Given the description of an element on the screen output the (x, y) to click on. 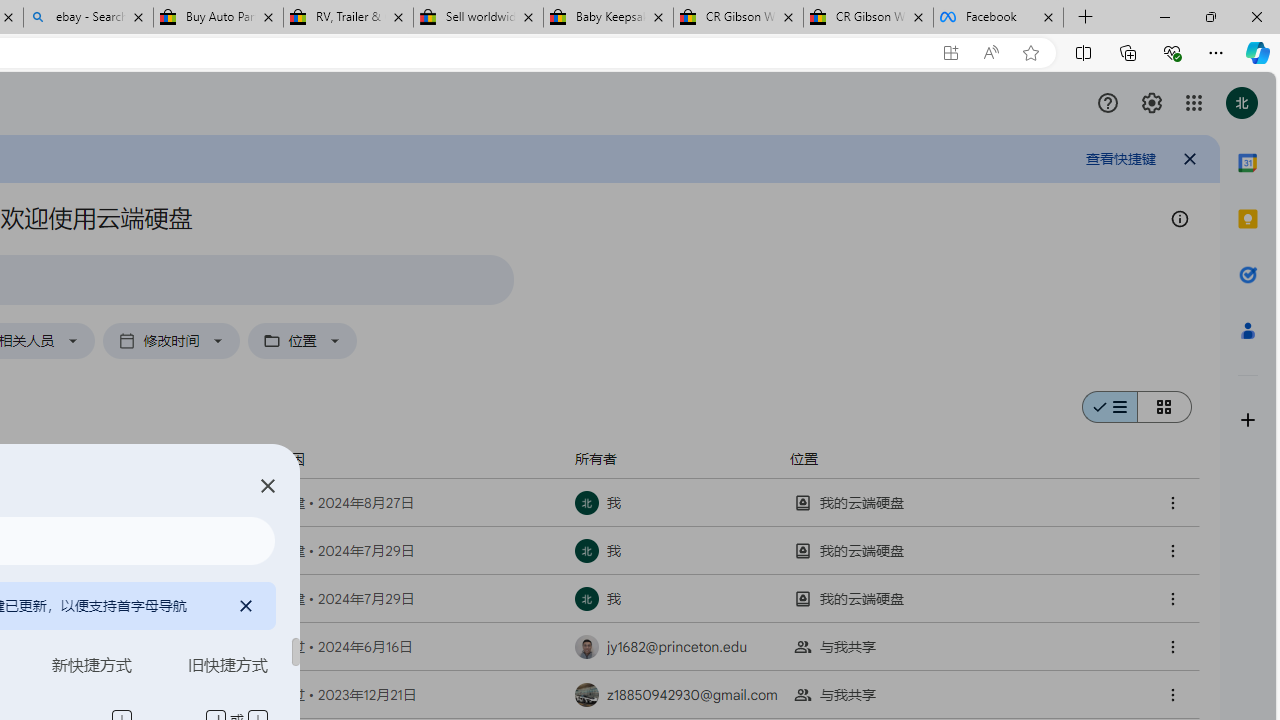
RV, Trailer & Camper Steps & Ladders for sale | eBay (348, 17)
Facebook (998, 17)
ebay - Search (88, 17)
Buy Auto Parts & Accessories | eBay (217, 17)
Sell worldwide with eBay (477, 17)
